Given the description of an element on the screen output the (x, y) to click on. 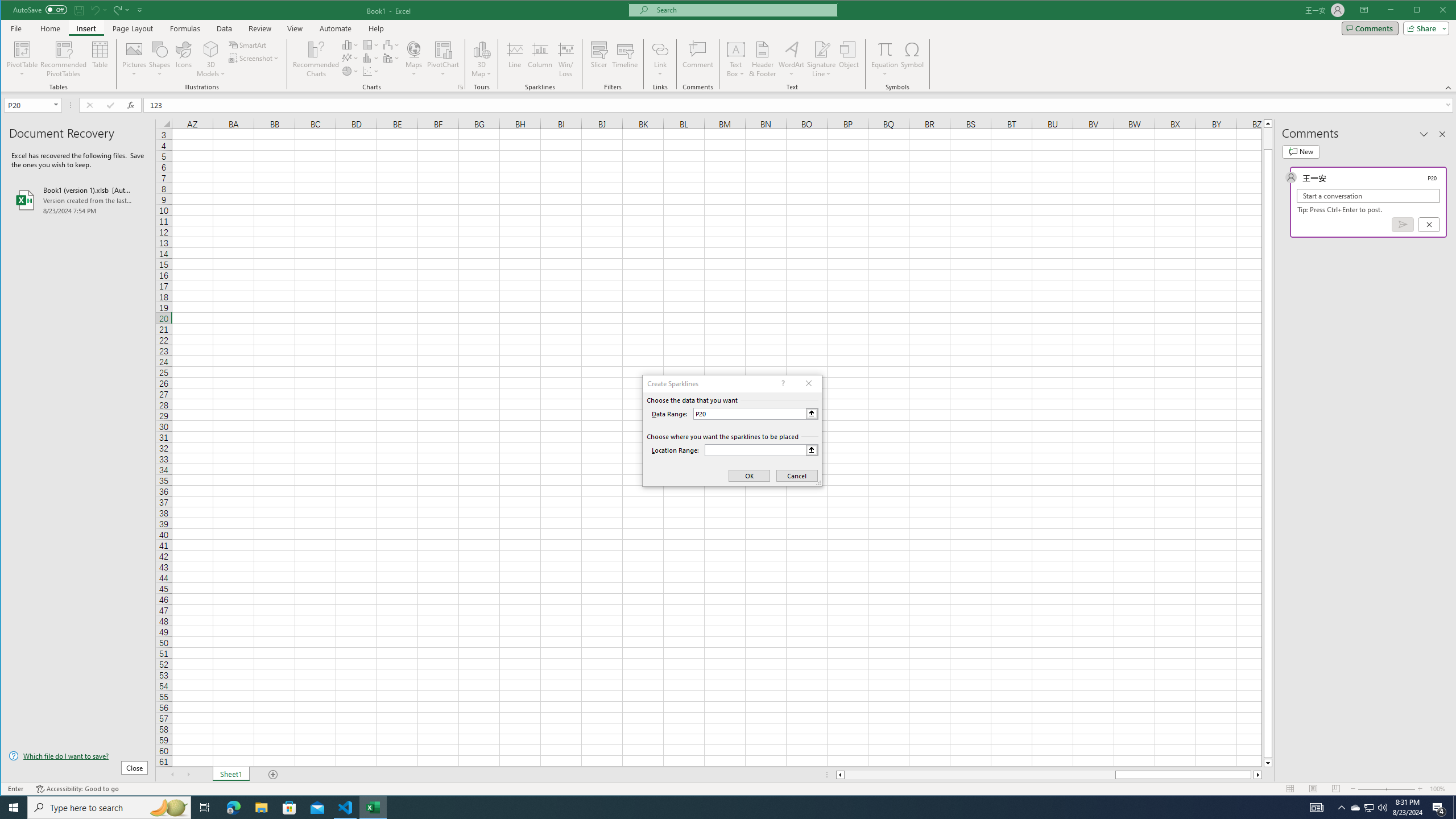
Object... (848, 59)
Maps (413, 59)
Insert Column or Bar Chart (350, 44)
Timeline (625, 59)
PivotChart (443, 48)
